Given the description of an element on the screen output the (x, y) to click on. 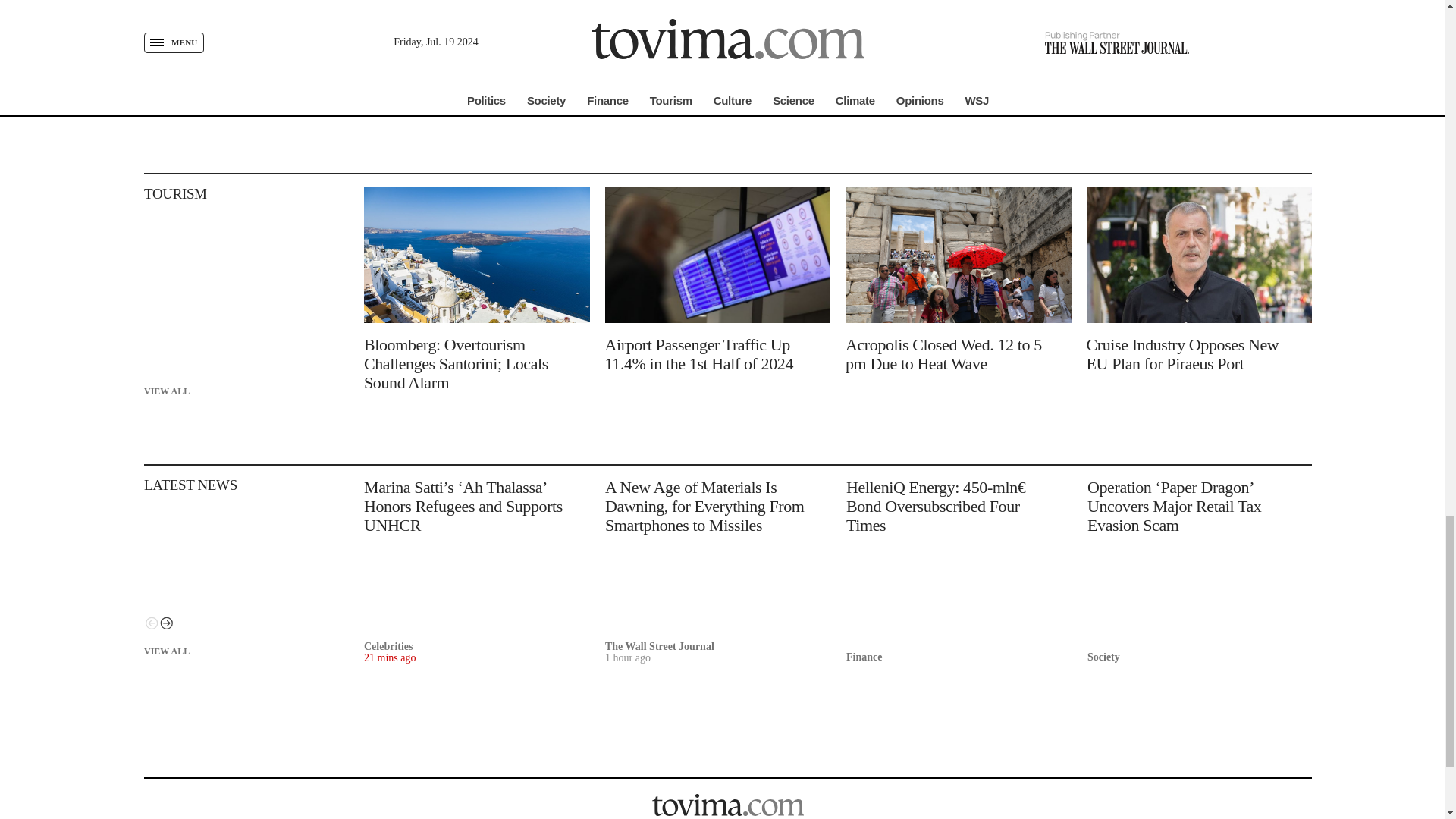
tovima.com (727, 804)
